Given the description of an element on the screen output the (x, y) to click on. 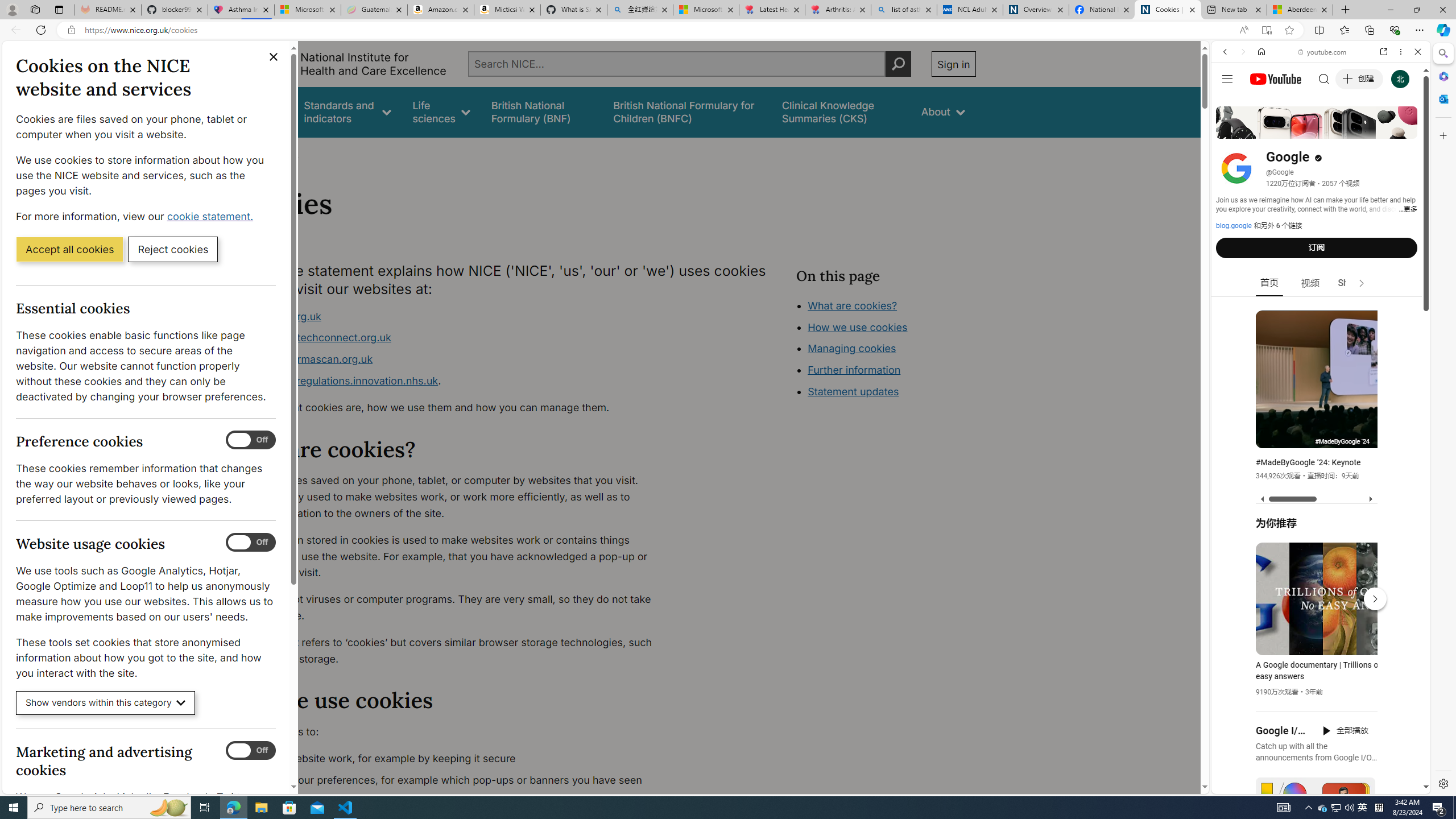
www.nice.org.uk (452, 316)
WEB   (1230, 130)
Life sciences (440, 111)
Preference cookies (250, 439)
www.ukpharmascan.org.uk (452, 359)
Search videos from youtube.com (1299, 373)
